Given the description of an element on the screen output the (x, y) to click on. 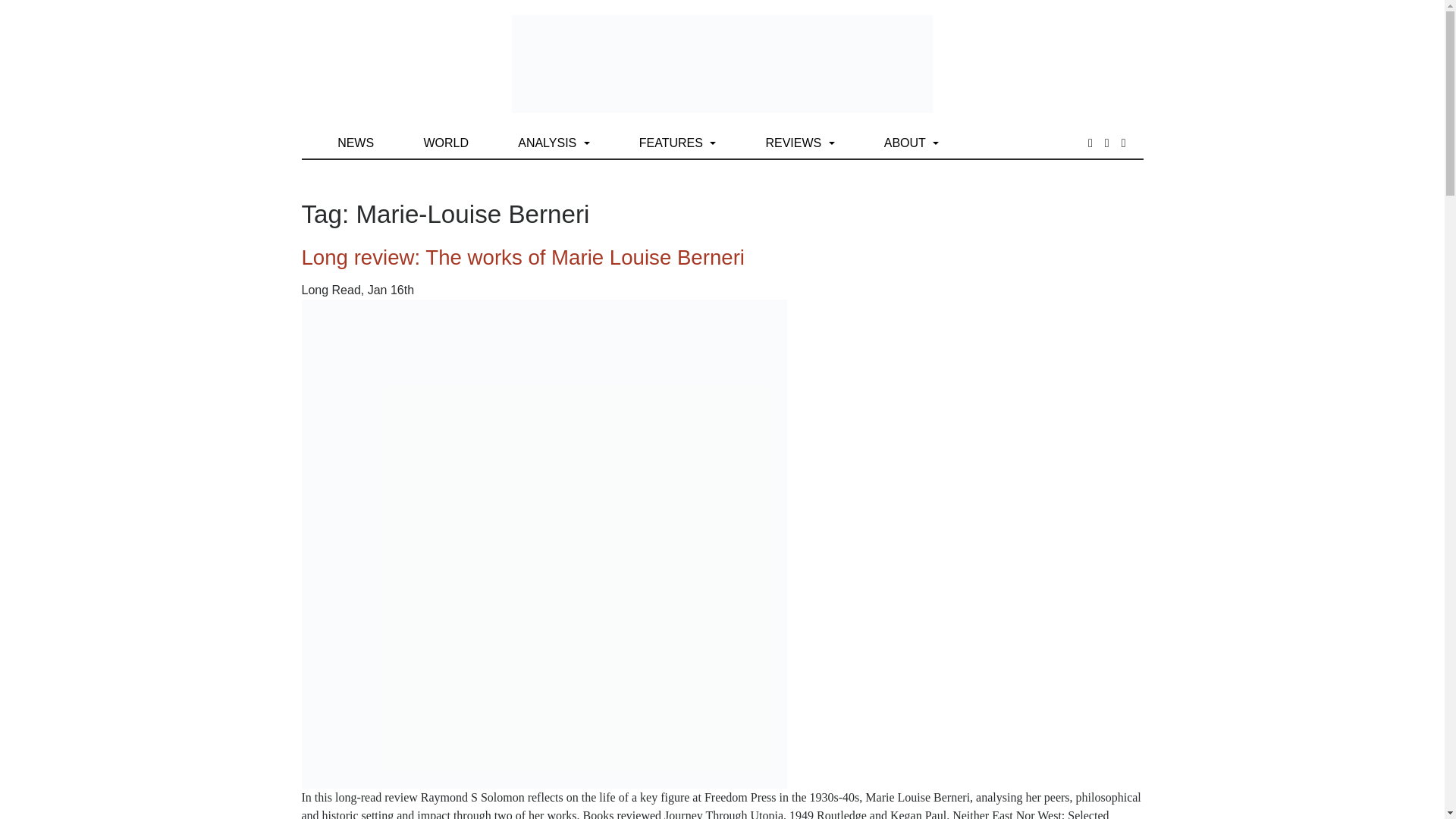
ABOUT (910, 142)
REVIEWS (799, 142)
WORLD (445, 142)
Reviews (799, 142)
Analysis (553, 142)
NEWS (355, 142)
About (910, 142)
News (355, 142)
World (445, 142)
Long review: The works of Marie Louise Berneri (523, 257)
FEATURES (677, 142)
Features (677, 142)
ANALYSIS (553, 142)
